Given the description of an element on the screen output the (x, y) to click on. 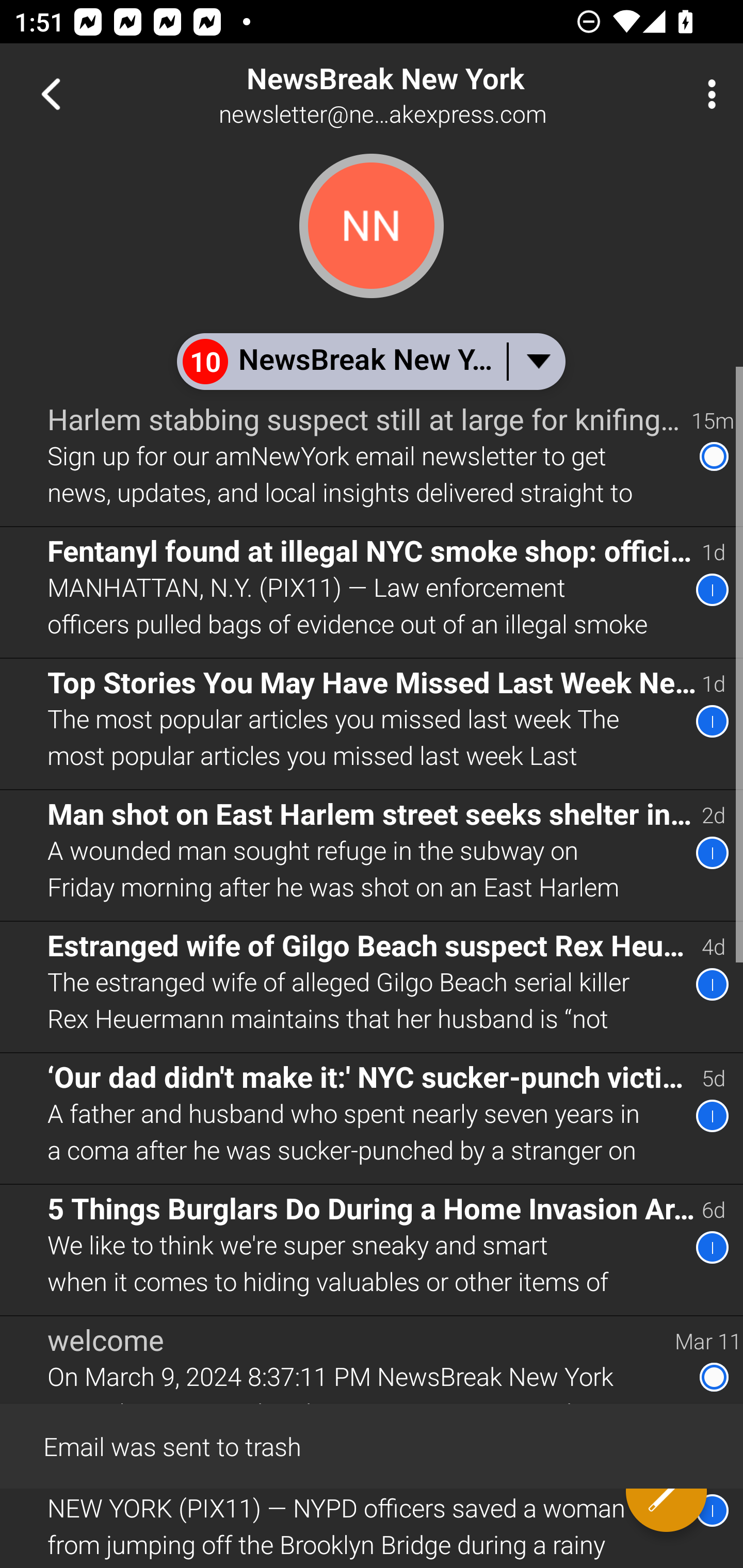
Navigate up (50, 93)
NewsBreak New York newsletter@newsbreakexpress.com (436, 93)
More Options (706, 93)
10 NewsBreak New York & You (370, 361)
Email was sent to trash (371, 1445)
